Given the description of an element on the screen output the (x, y) to click on. 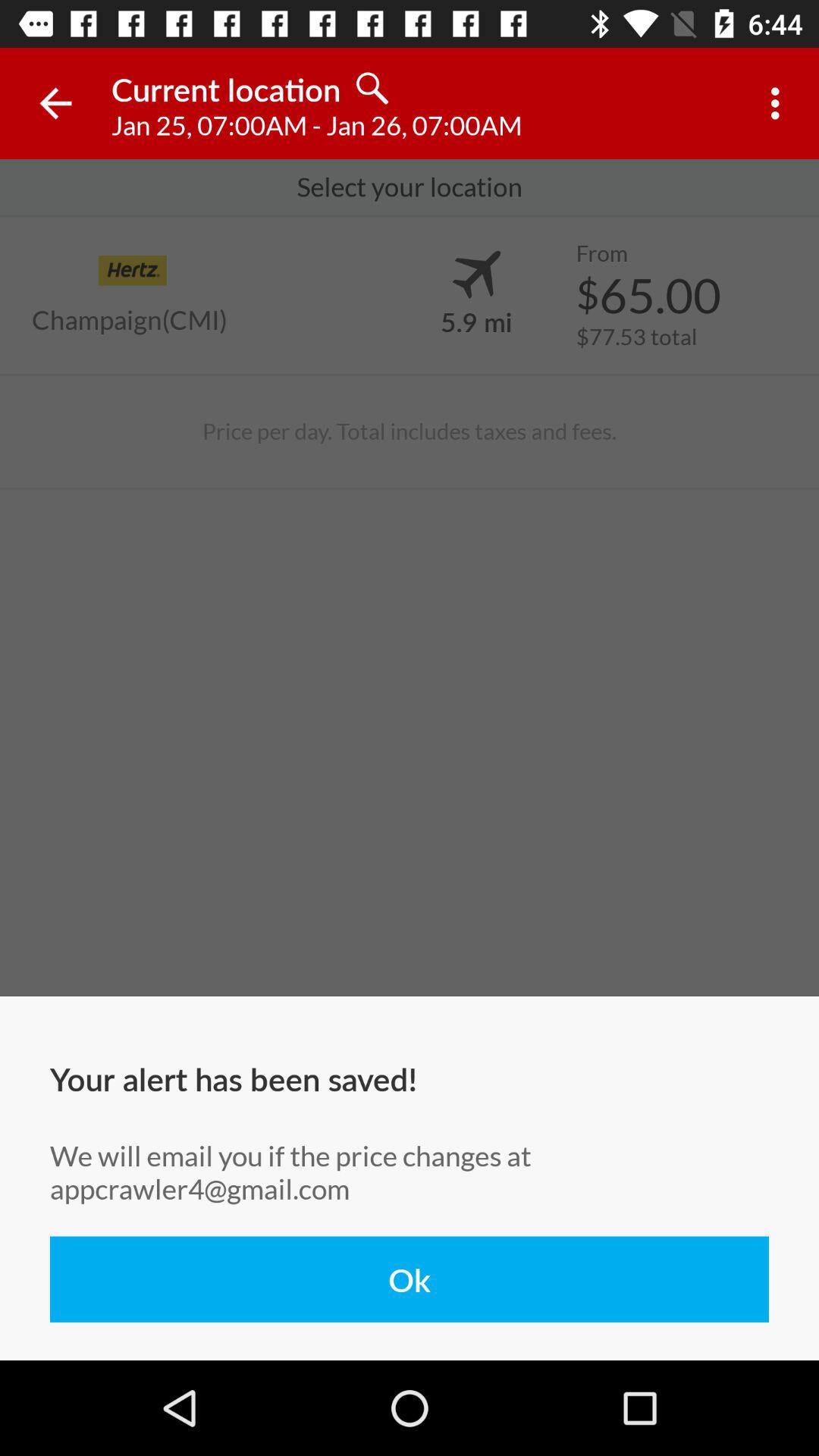
open the item above price per day (129, 319)
